Given the description of an element on the screen output the (x, y) to click on. 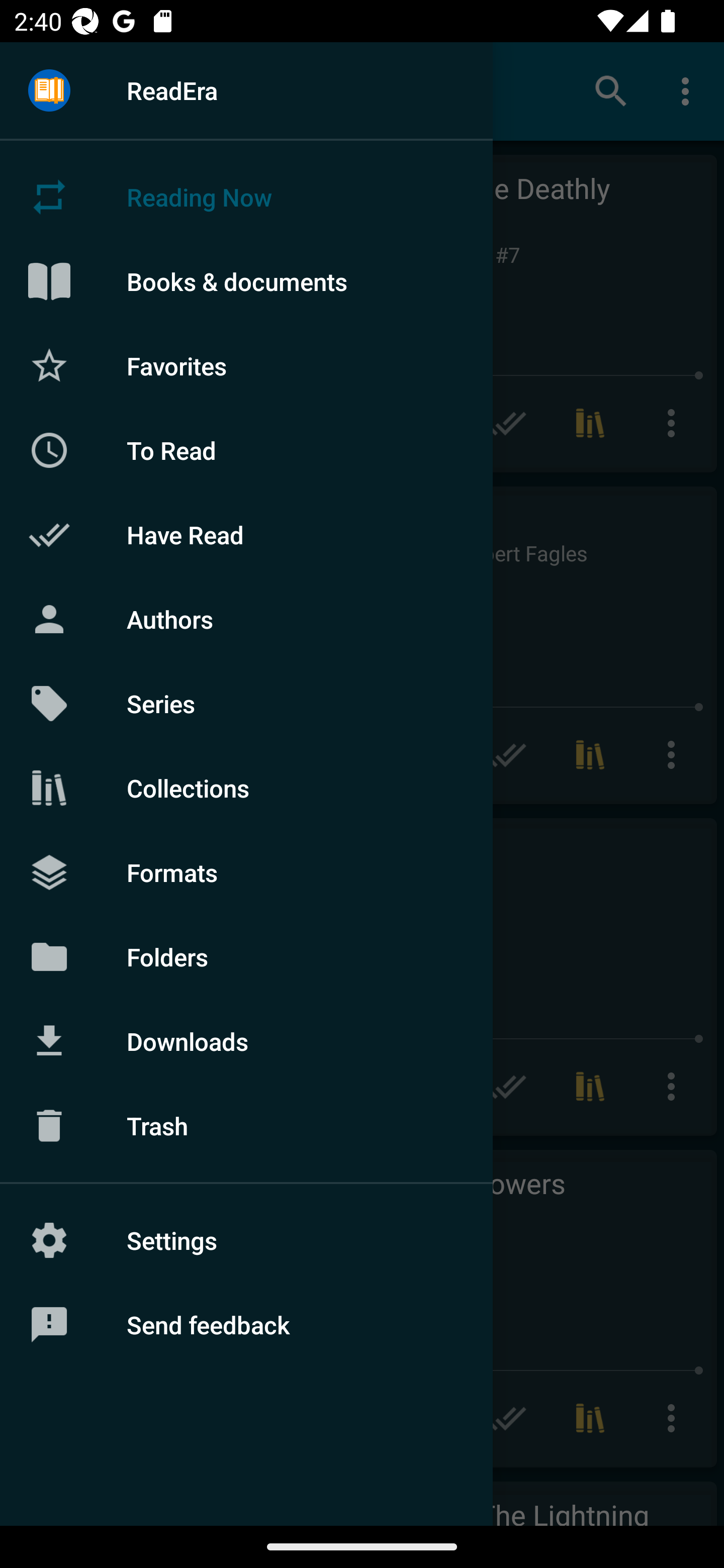
Menu (49, 91)
ReadEra (246, 89)
Search books & documents (611, 90)
More options (688, 90)
Reading Now (246, 197)
Books & documents (246, 281)
Favorites (246, 365)
To Read (246, 449)
Have Read (246, 534)
Authors (246, 619)
Series (246, 703)
Collections (246, 787)
Formats (246, 871)
Folders (246, 956)
Downloads (246, 1040)
Trash (246, 1125)
Settings (246, 1239)
Send feedback (246, 1324)
